Given the description of an element on the screen output the (x, y) to click on. 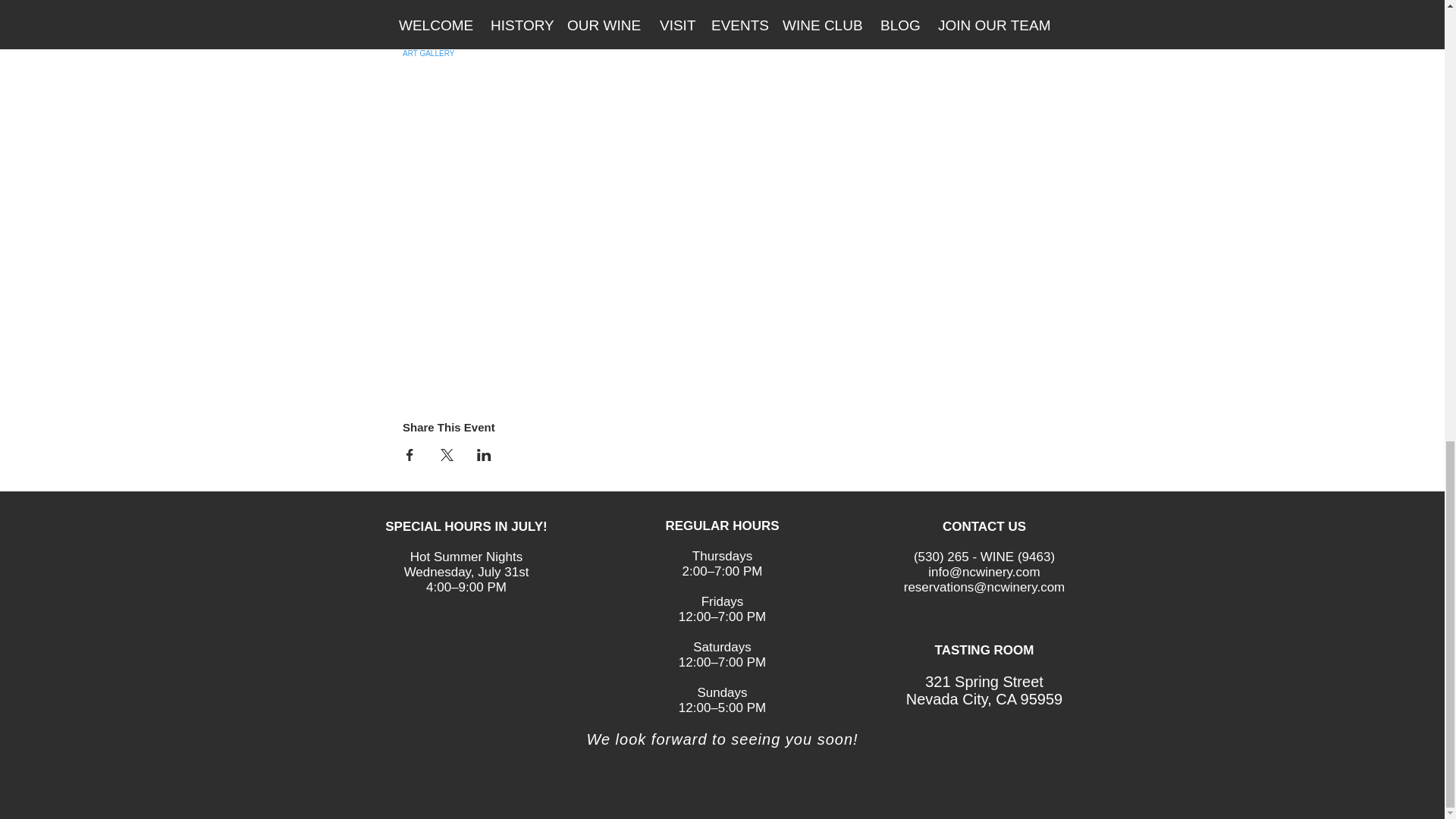
ART GALLERY (428, 53)
